Given the description of an element on the screen output the (x, y) to click on. 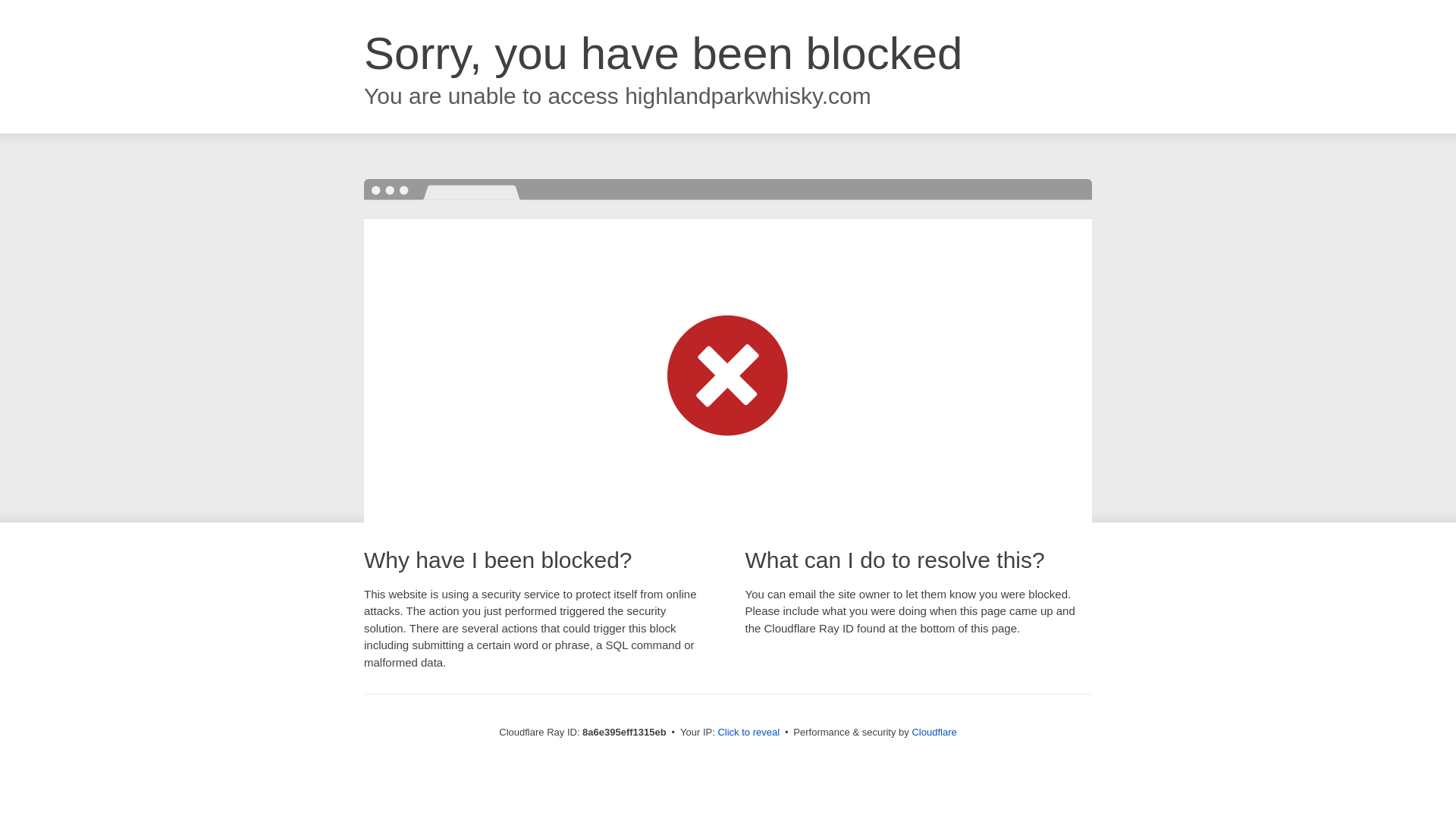
Cloudflare (933, 731)
Click to reveal (747, 732)
